Given the description of an element on the screen output the (x, y) to click on. 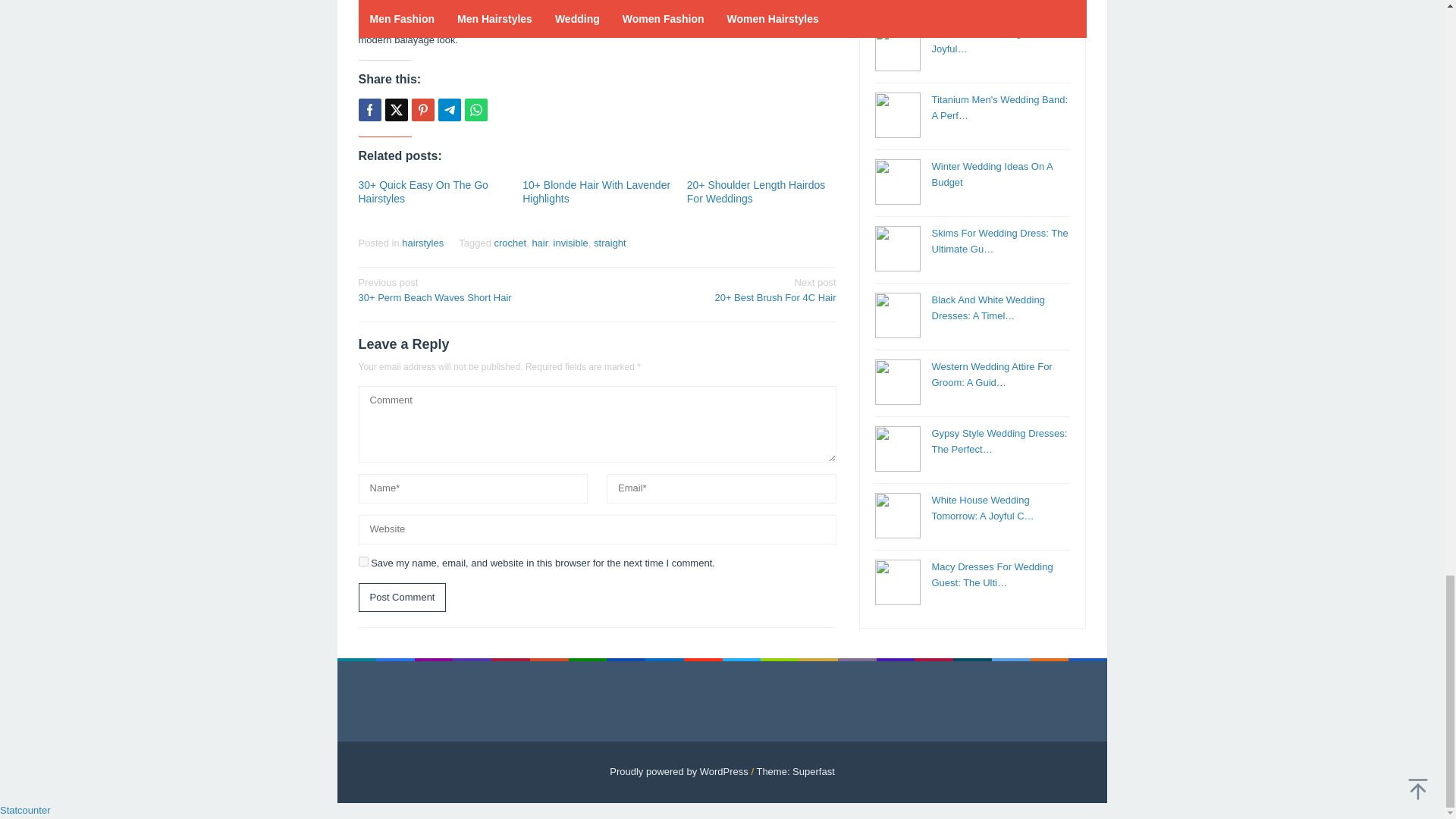
hairstyles (422, 242)
Whatsapp (475, 109)
Post Comment (401, 597)
invisible (570, 242)
Post Comment (401, 597)
Tweet this (396, 109)
Proudly powered by WordPress (679, 771)
yes (363, 561)
Pin this (421, 109)
straight (610, 242)
Telegram Share (449, 109)
Share this (369, 109)
crochet (511, 242)
hair (539, 242)
